Given the description of an element on the screen output the (x, y) to click on. 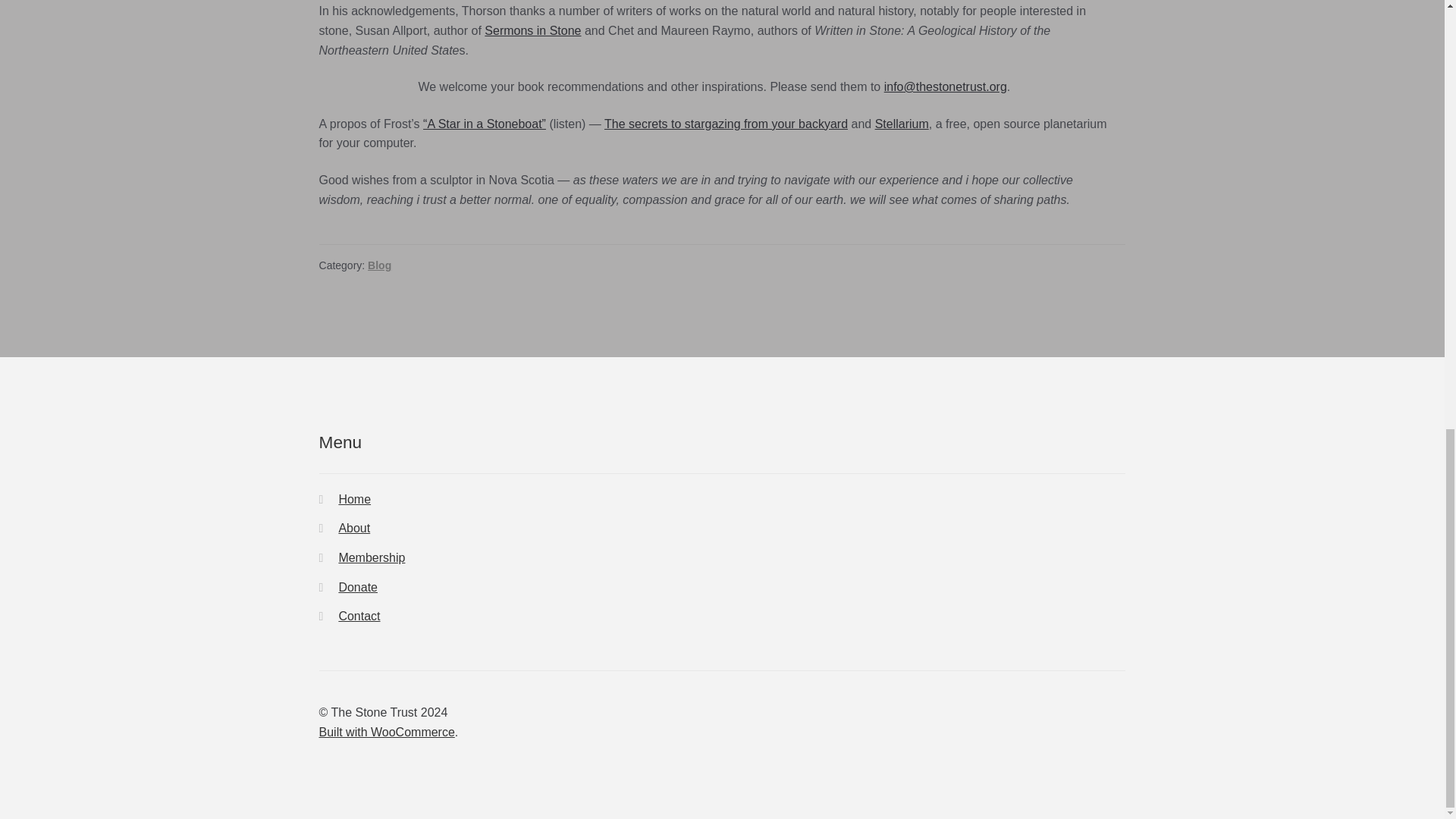
WooCommerce - The Best eCommerce Platform for WordPress (386, 731)
